Given the description of an element on the screen output the (x, y) to click on. 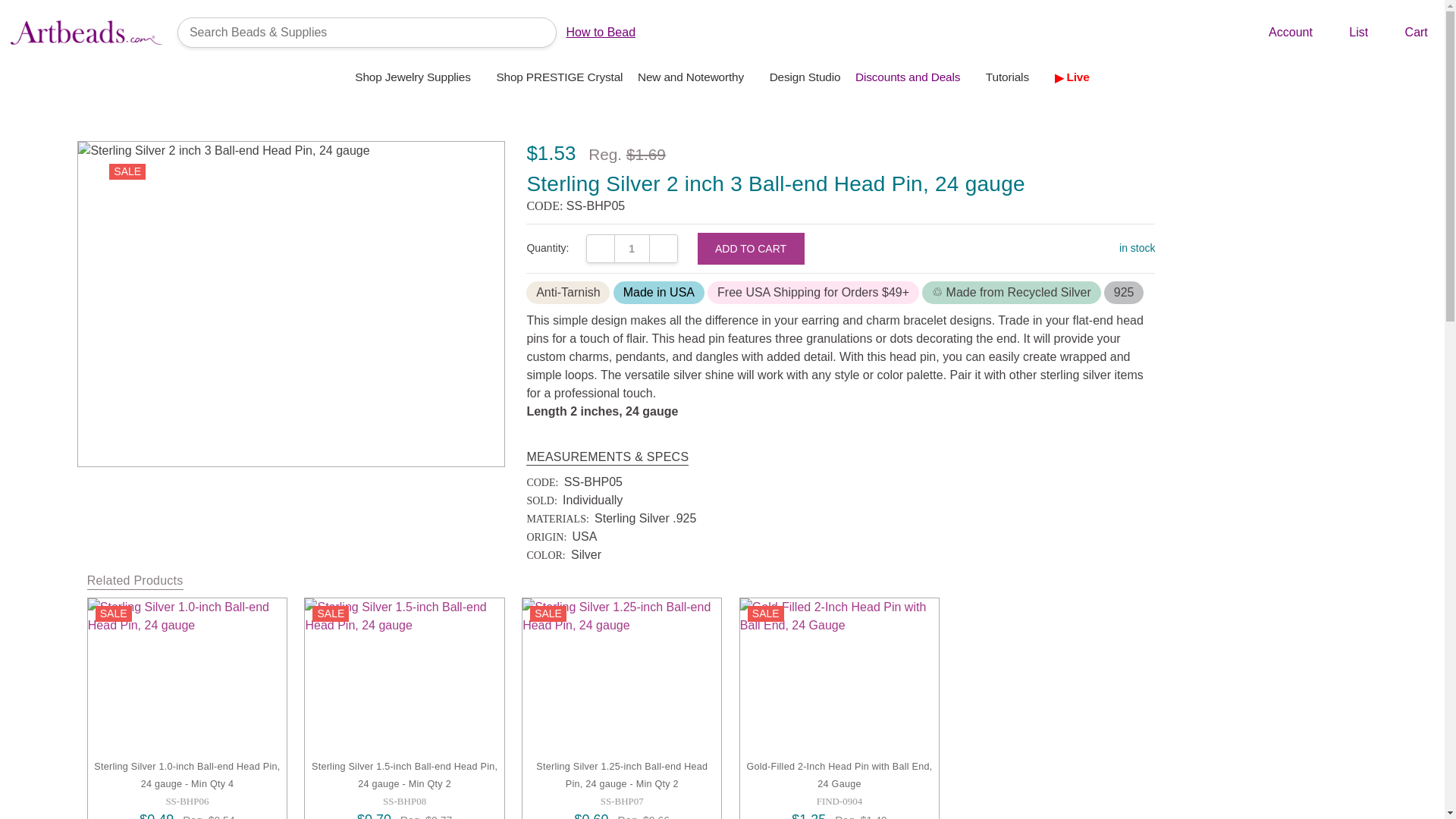
Gold-Filled 2-Inch Head Pin with Ball End, 24 Gauge (839, 677)
Cart (1404, 32)
Shop PRESTIGE Crystal (559, 76)
Add to Cart (751, 248)
Account (1279, 32)
1 (631, 248)
List (1346, 32)
Artbeads.com (85, 32)
Shop Jewelry Supplies (418, 76)
